Given the description of an element on the screen output the (x, y) to click on. 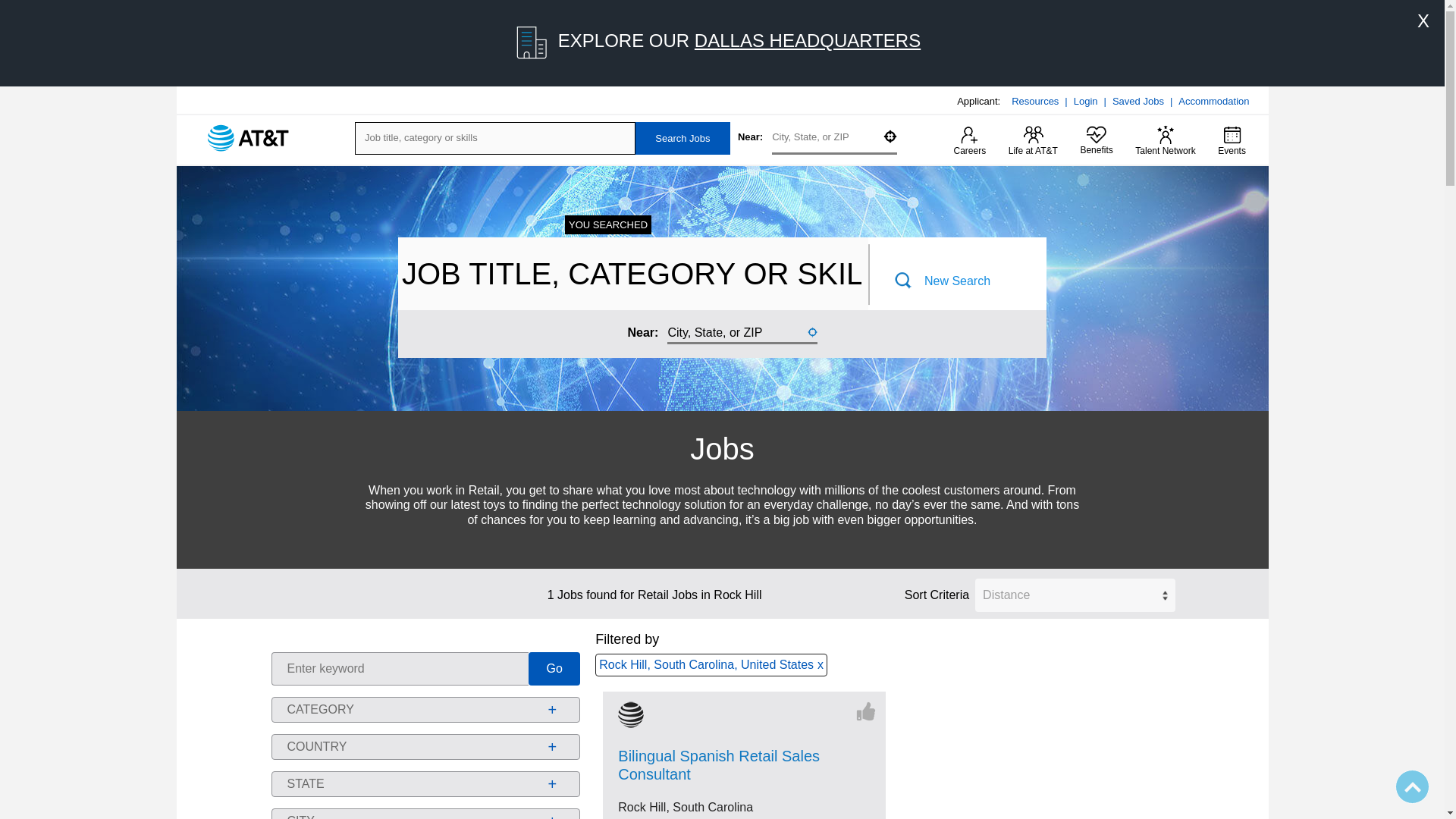
logo (247, 137)
Use Location (889, 136)
Use Location (811, 331)
Careers (970, 142)
DALLAS HEADQUARTERS (807, 40)
Search Jobs (682, 138)
